Given the description of an element on the screen output the (x, y) to click on. 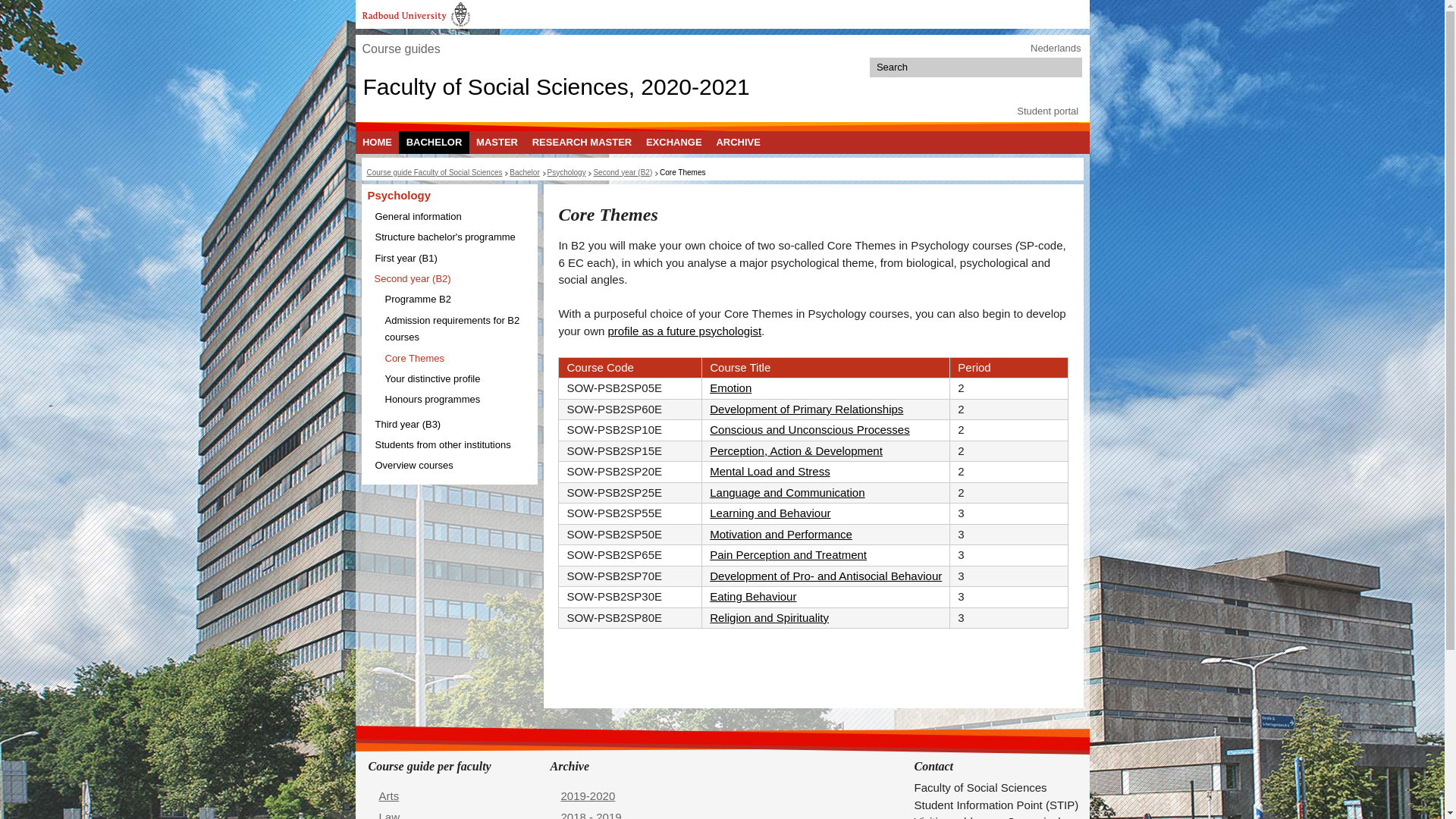
Faculty of Social Sciences, 2020-2021 (555, 85)
HOME (376, 141)
Student portal (1047, 110)
BACHELOR (434, 141)
Nederlands (1055, 48)
Radboud University (415, 14)
Course guides (400, 48)
Search (1070, 66)
